Given the description of an element on the screen output the (x, y) to click on. 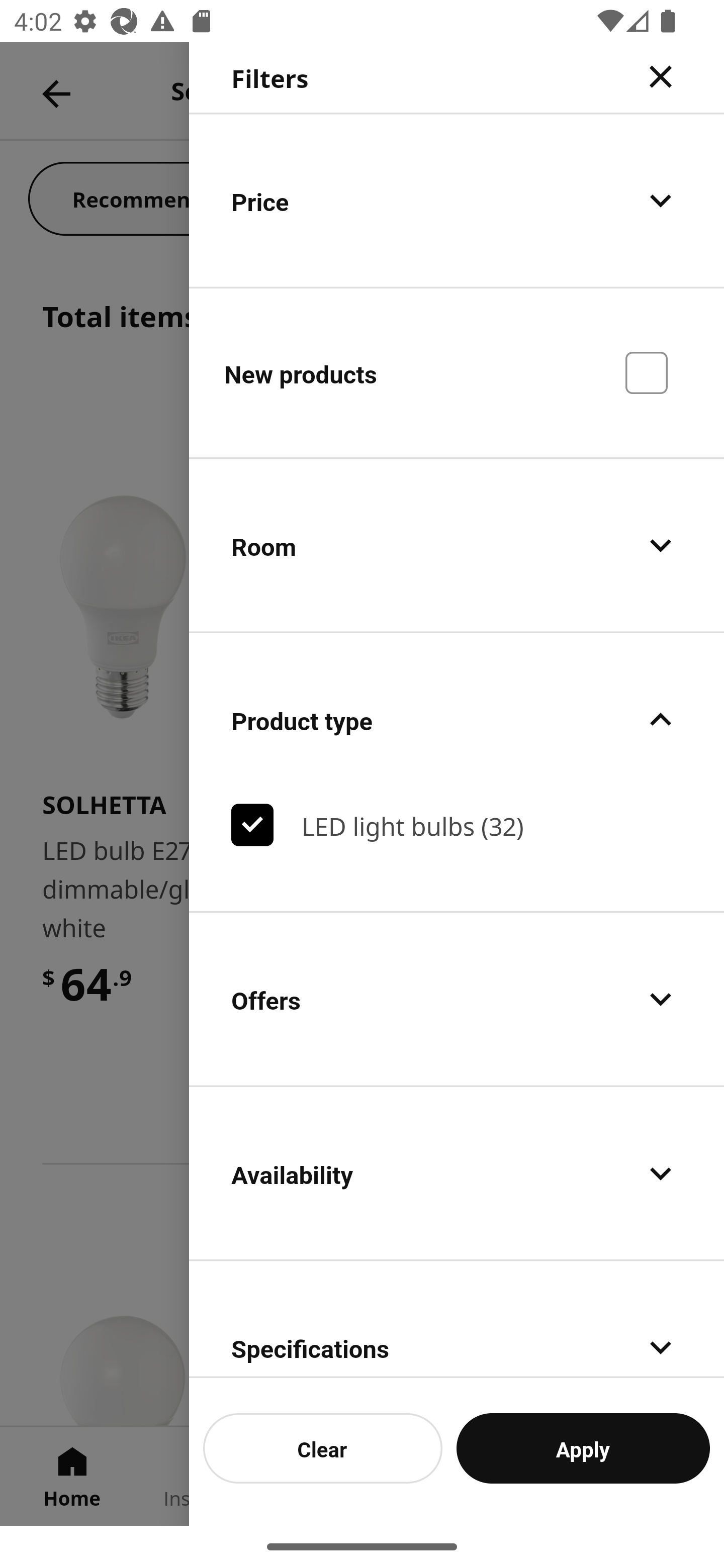
Price (456, 200)
New products (456, 371)
Room (456, 545)
Product type (456, 719)
LED light bulbs (32) (456, 825)
Offers (456, 998)
Availability (456, 1173)
Specifications (456, 1319)
Clear (322, 1447)
Apply (583, 1447)
